Given the description of an element on the screen output the (x, y) to click on. 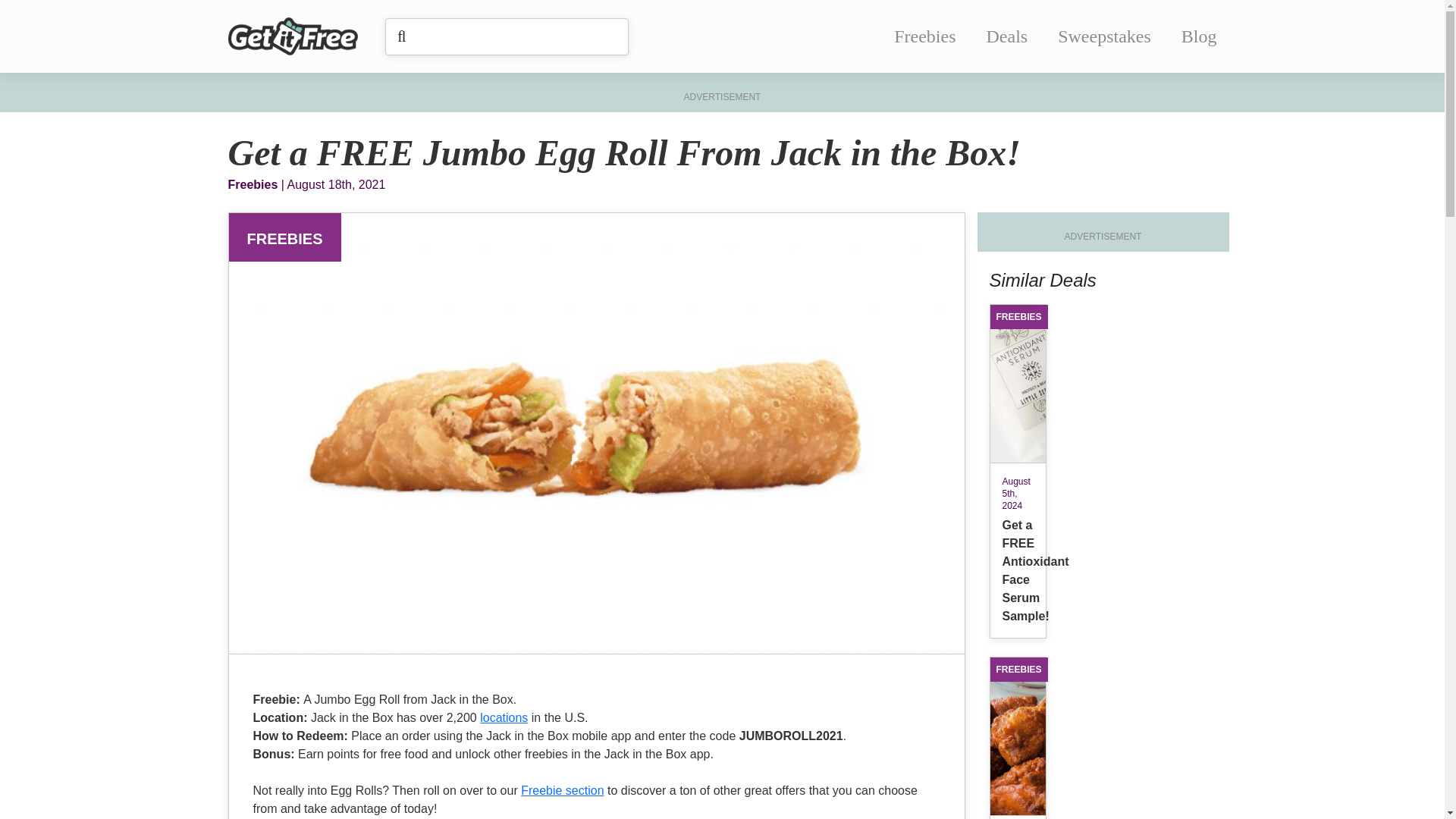
Freebie section (562, 789)
Freebies (924, 35)
locations (503, 717)
Blog (1198, 35)
Sweepstakes (1104, 35)
Deals (1007, 35)
